Given the description of an element on the screen output the (x, y) to click on. 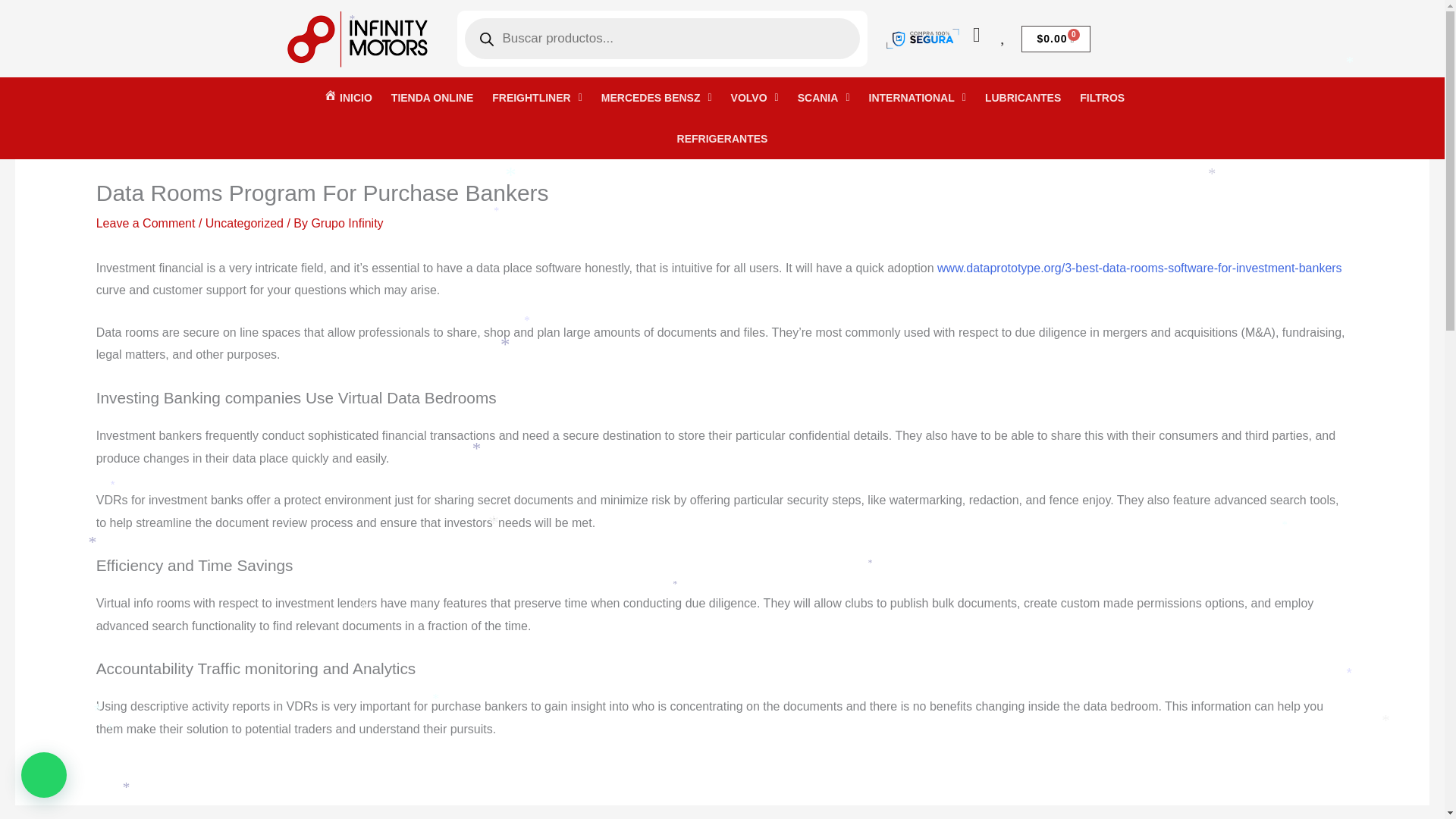
View all posts by Grupo Infinity (346, 223)
